Given the description of an element on the screen output the (x, y) to click on. 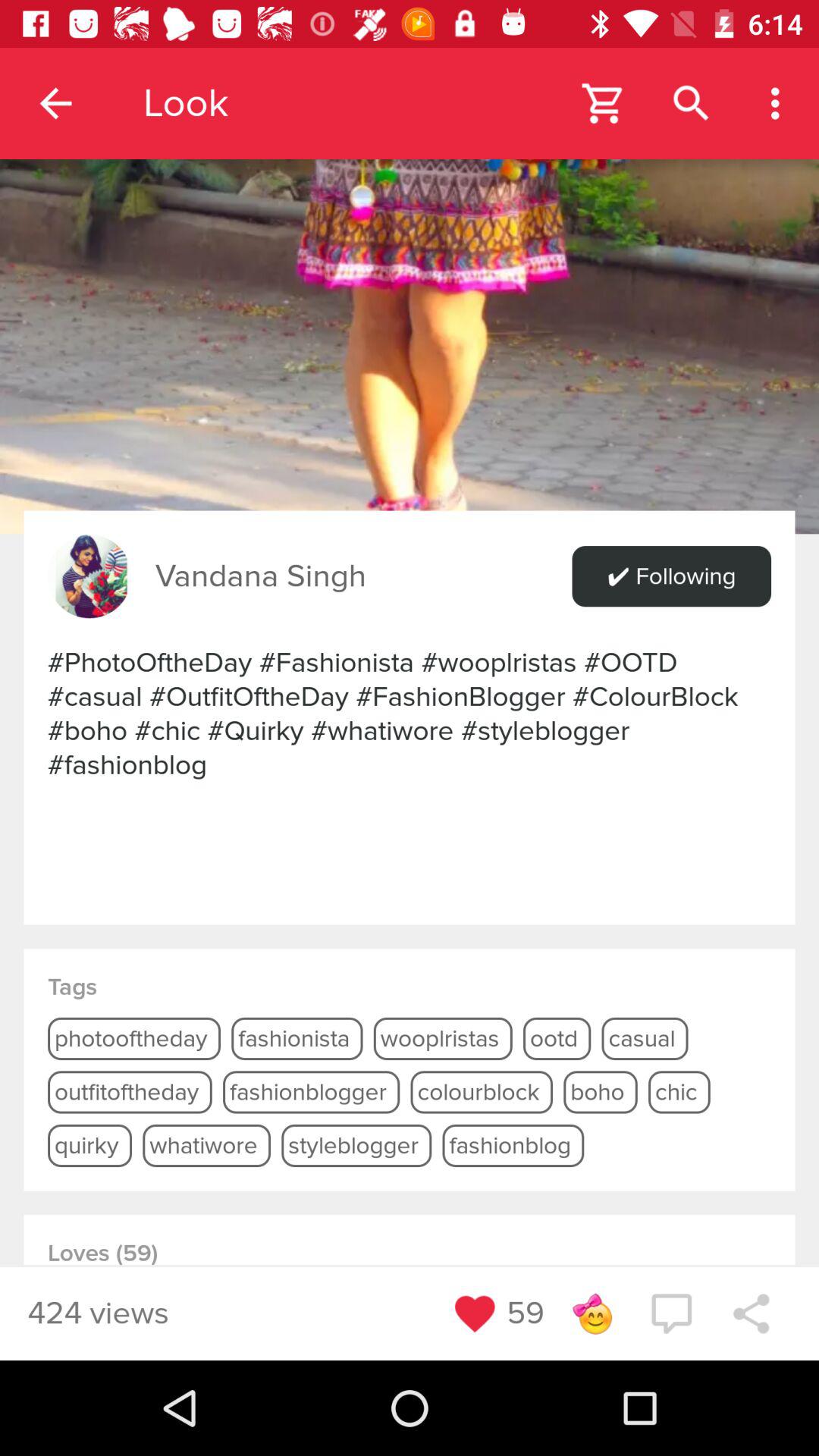
view cart (603, 103)
